Given the description of an element on the screen output the (x, y) to click on. 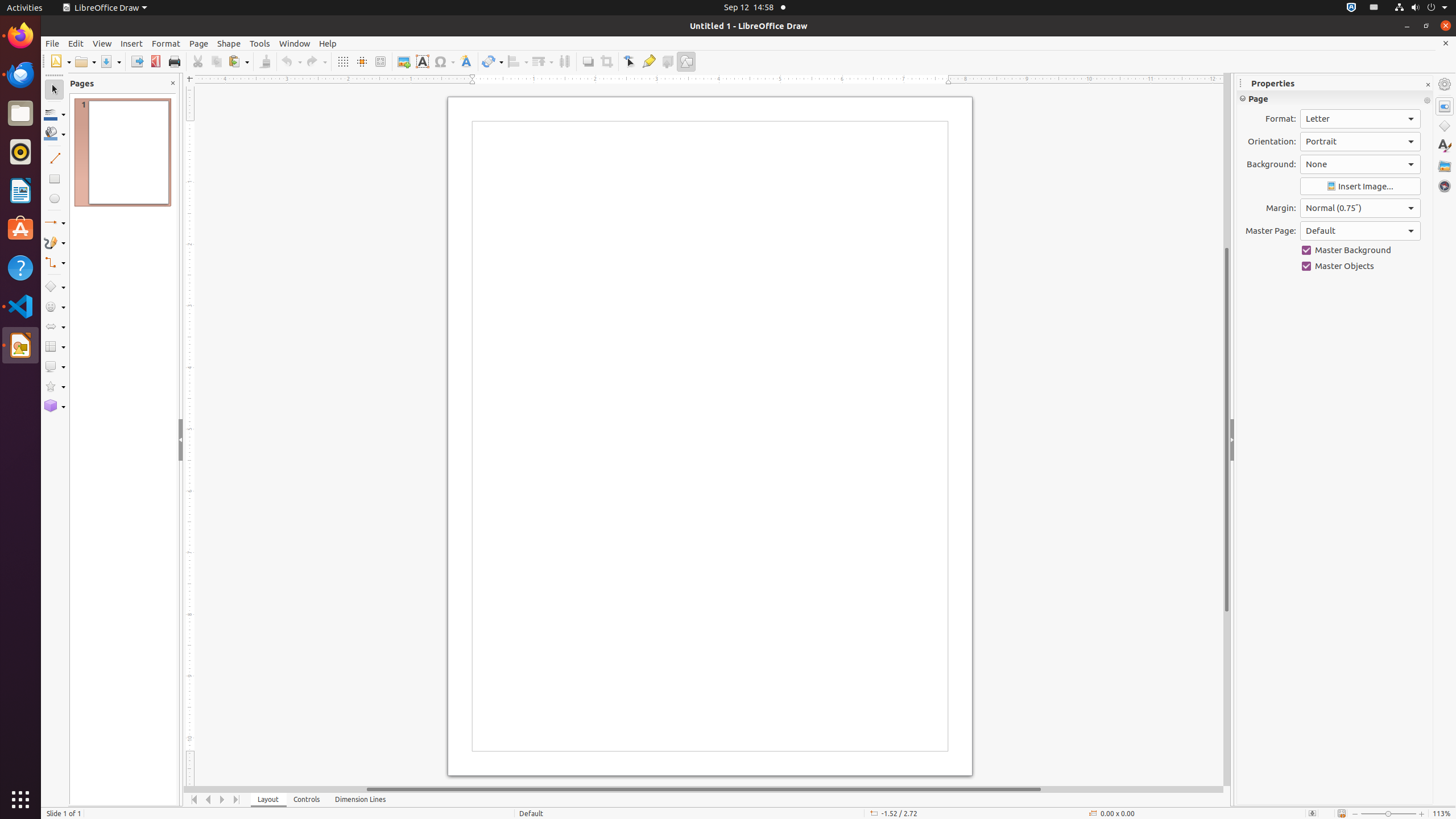
Redo Element type: push-button (315, 61)
Select Element type: push-button (53, 89)
Crop Element type: push-button (606, 61)
Master Background Element type: check-box (1360, 249)
Navigator Element type: radio-button (1444, 185)
